Given the description of an element on the screen output the (x, y) to click on. 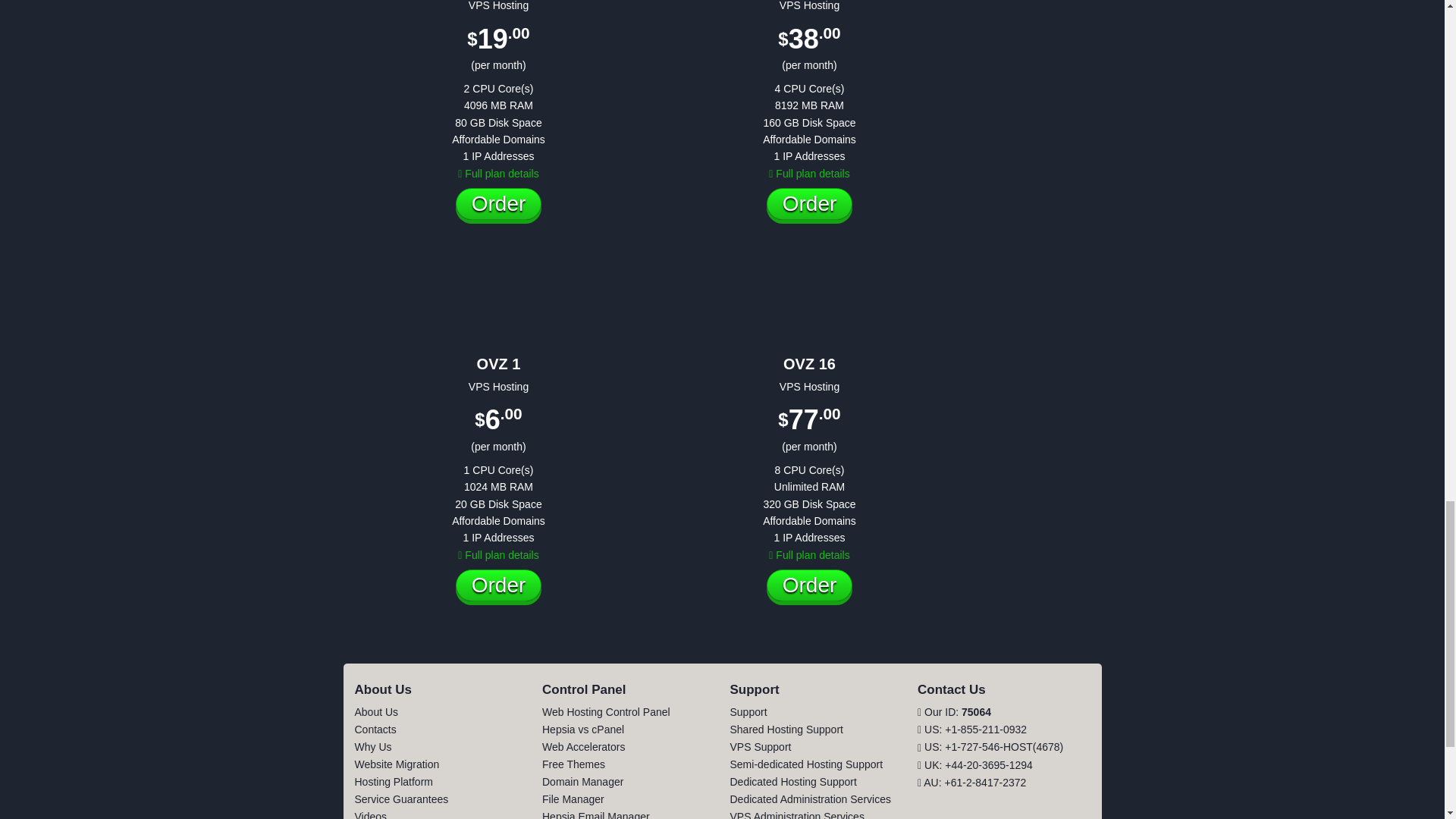
OVZ 1 Shared Hosting Plan Details (498, 554)
OVZ 8 Shared Hosting Plan Details (808, 173)
OVZ 16 Shared Hosting Plan Details (808, 554)
OVZ 4 Shared Hosting Plan Details (498, 173)
